Given the description of an element on the screen output the (x, y) to click on. 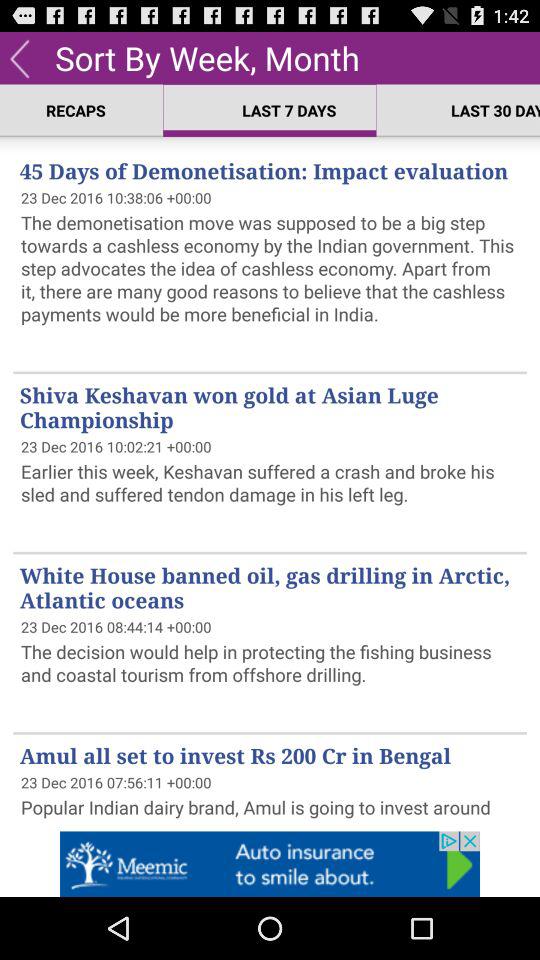
advertisement link (270, 864)
